Given the description of an element on the screen output the (x, y) to click on. 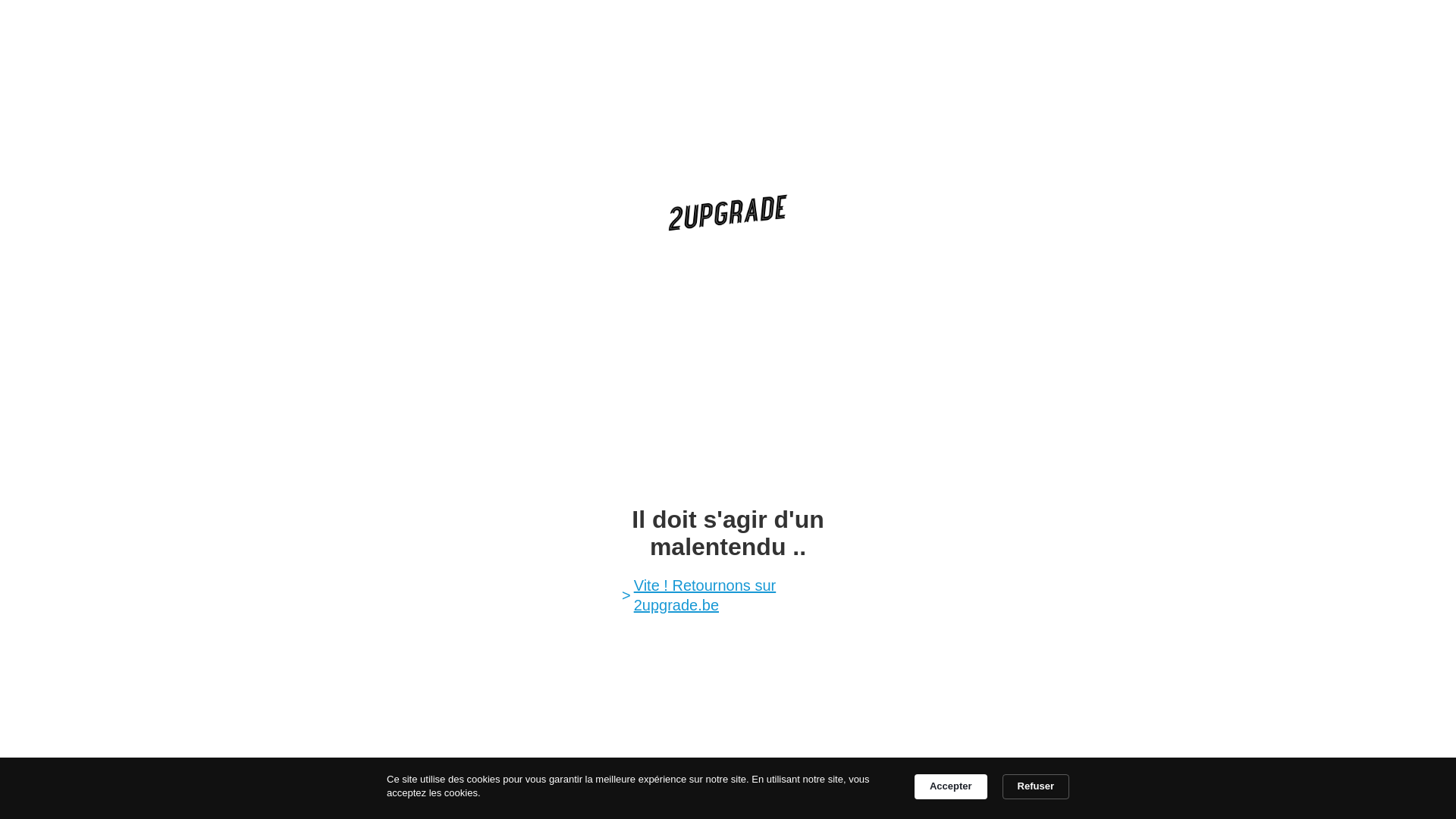
YouTube video player Element type: hover (727, 366)
Vite ! Retournons sur 2upgrade.be Element type: text (733, 595)
